Given the description of an element on the screen output the (x, y) to click on. 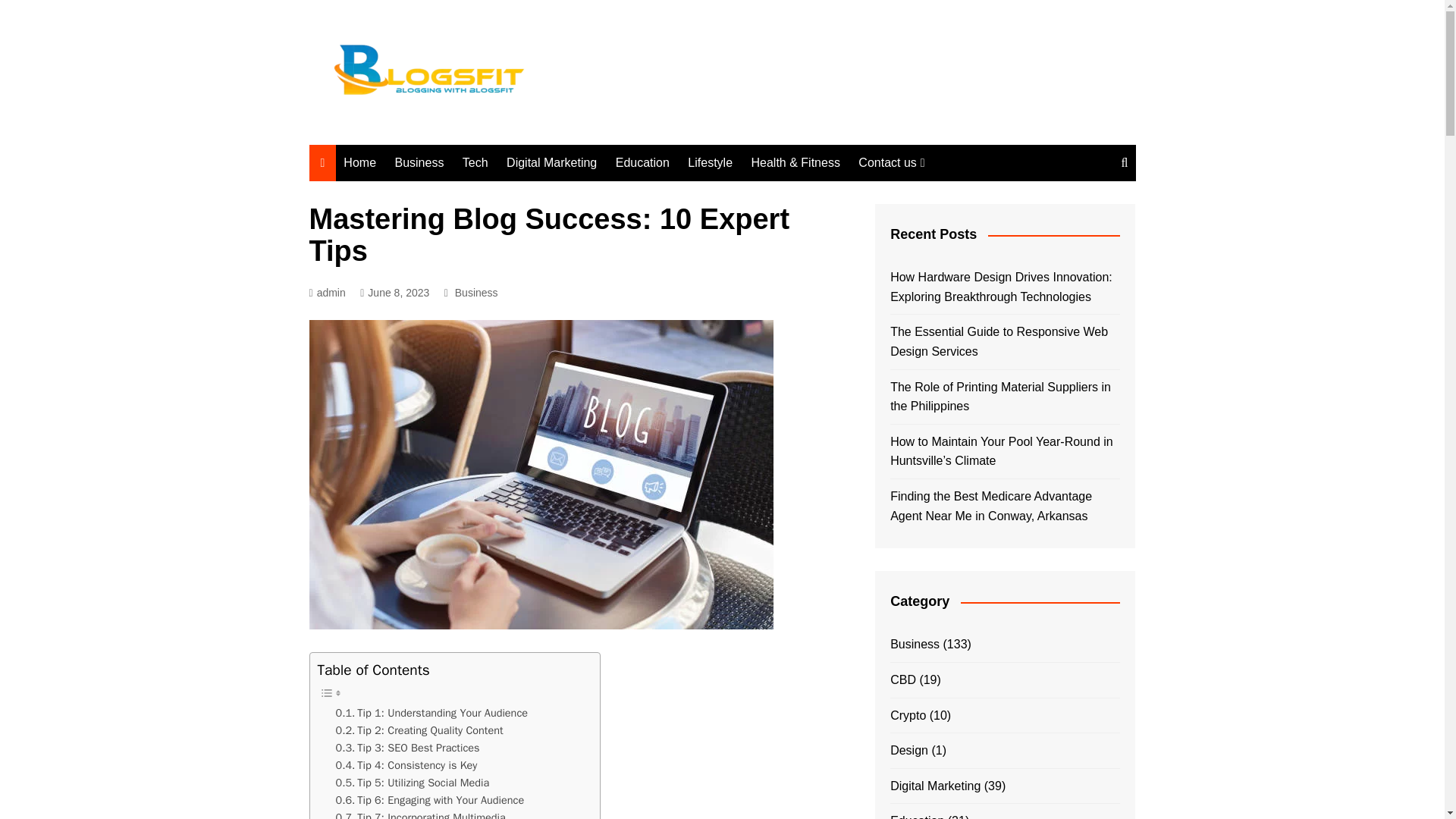
Privacy Policy (933, 243)
Business (475, 292)
Tip 5: Utilizing Social Media (411, 782)
Tip 4: Consistency is Key (405, 764)
Tip 5: Utilizing Social Media (411, 782)
Business (419, 162)
Tip 7: Incorporating Multimedia (419, 814)
Disclaimers (933, 218)
Lifestyle (709, 162)
admin (327, 293)
Tech (475, 162)
Home (360, 162)
Tip 4: Consistency is Key (405, 764)
Tip 6: Engaging with Your Audience (429, 800)
June 8, 2023 (394, 293)
